Given the description of an element on the screen output the (x, y) to click on. 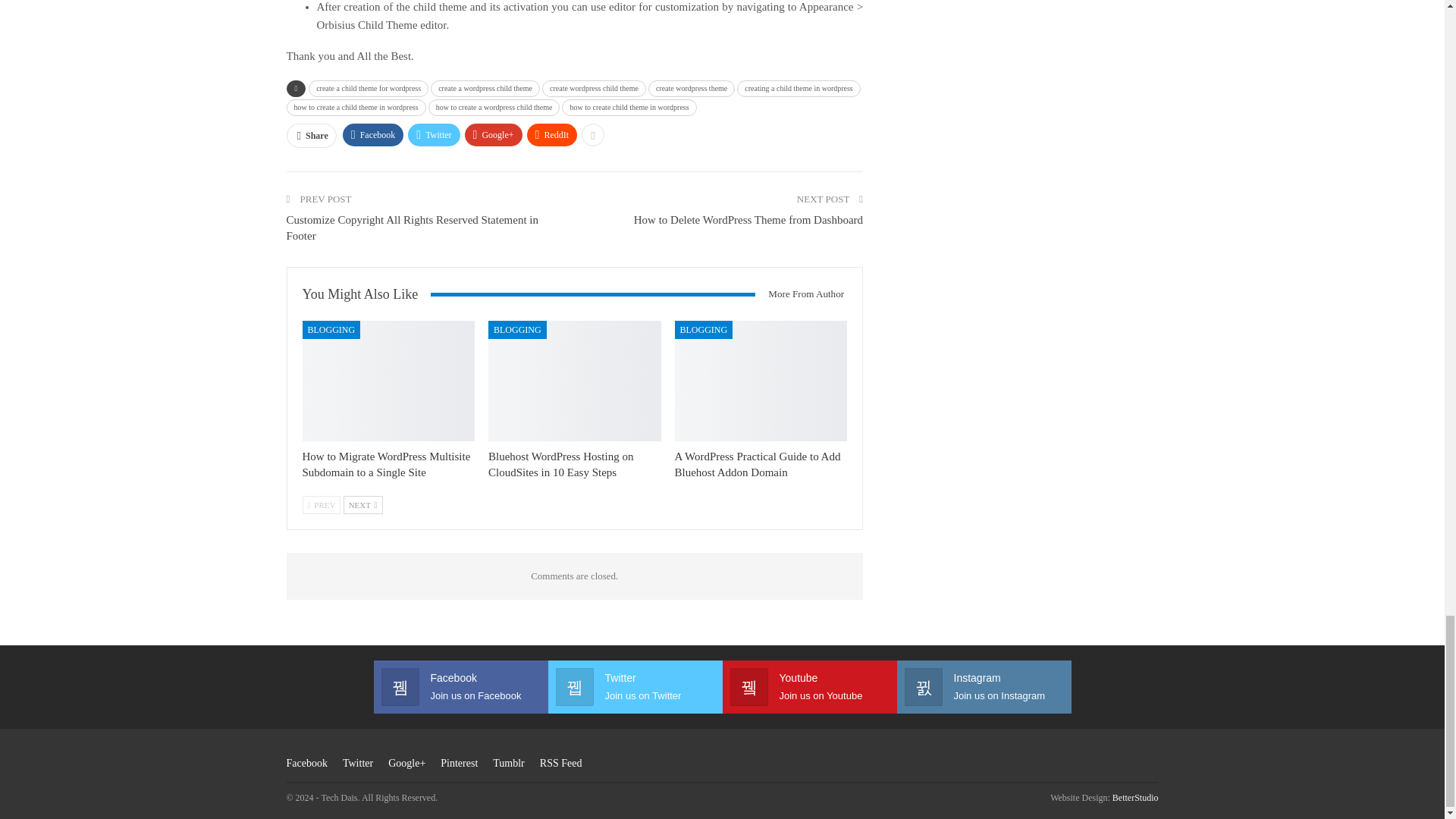
Previous (320, 505)
A WordPress Practical Guide to Add Bluehost Addon Domain (758, 464)
Next (362, 505)
A WordPress Practical Guide to Add Bluehost Addon Domain (761, 381)
Bluehost WordPress Hosting on CloudSites in 10 Easy Steps (560, 464)
Bluehost WordPress Hosting on CloudSites in 10 Easy Steps (574, 381)
